Given the description of an element on the screen output the (x, y) to click on. 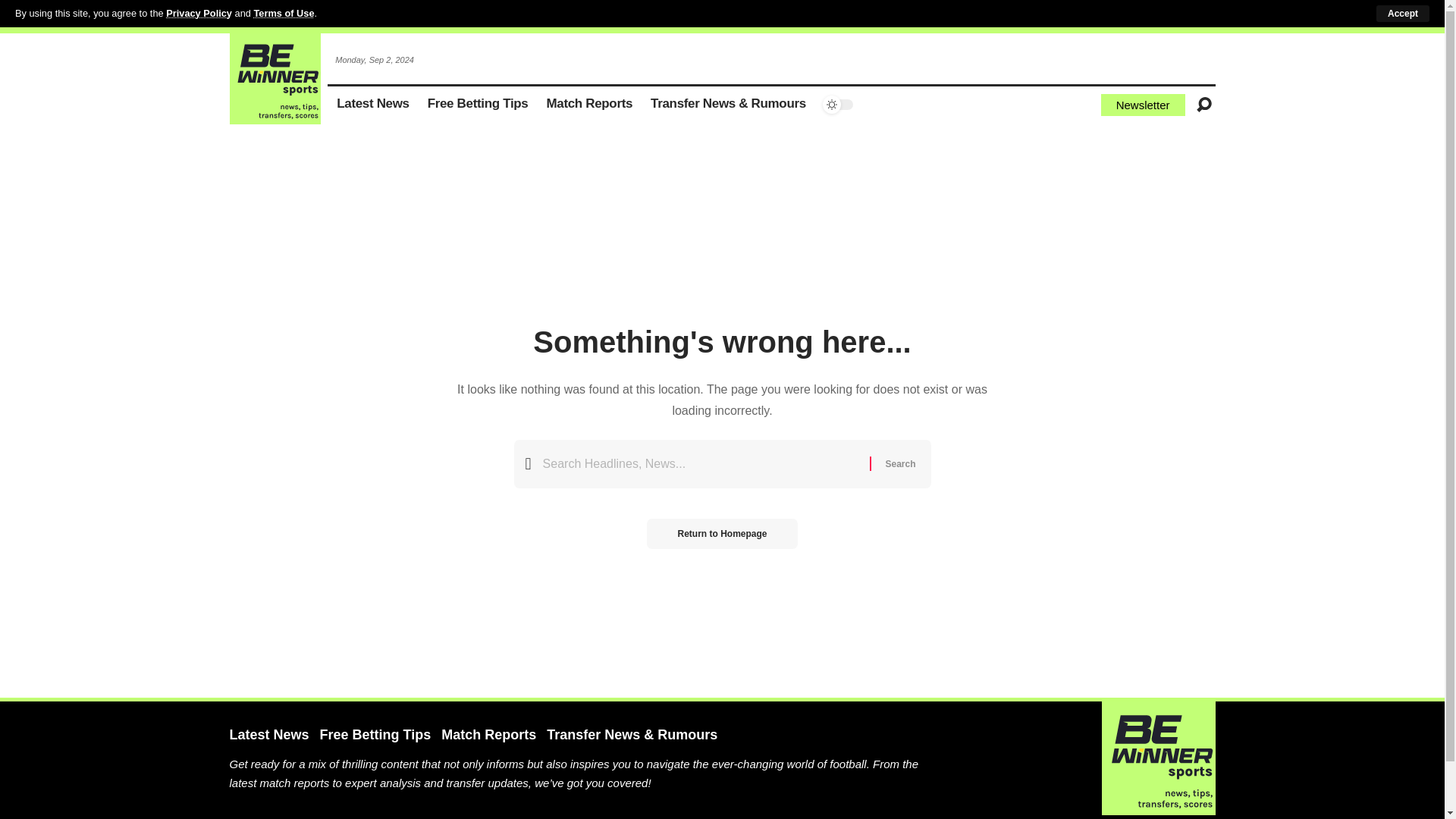
Accept (1402, 13)
Newsletter (1142, 105)
Search (899, 463)
Match Reports (589, 104)
Privacy Policy (198, 12)
Free Betting Tips (478, 104)
Latest News (372, 104)
Terms of Use (283, 12)
